Given the description of an element on the screen output the (x, y) to click on. 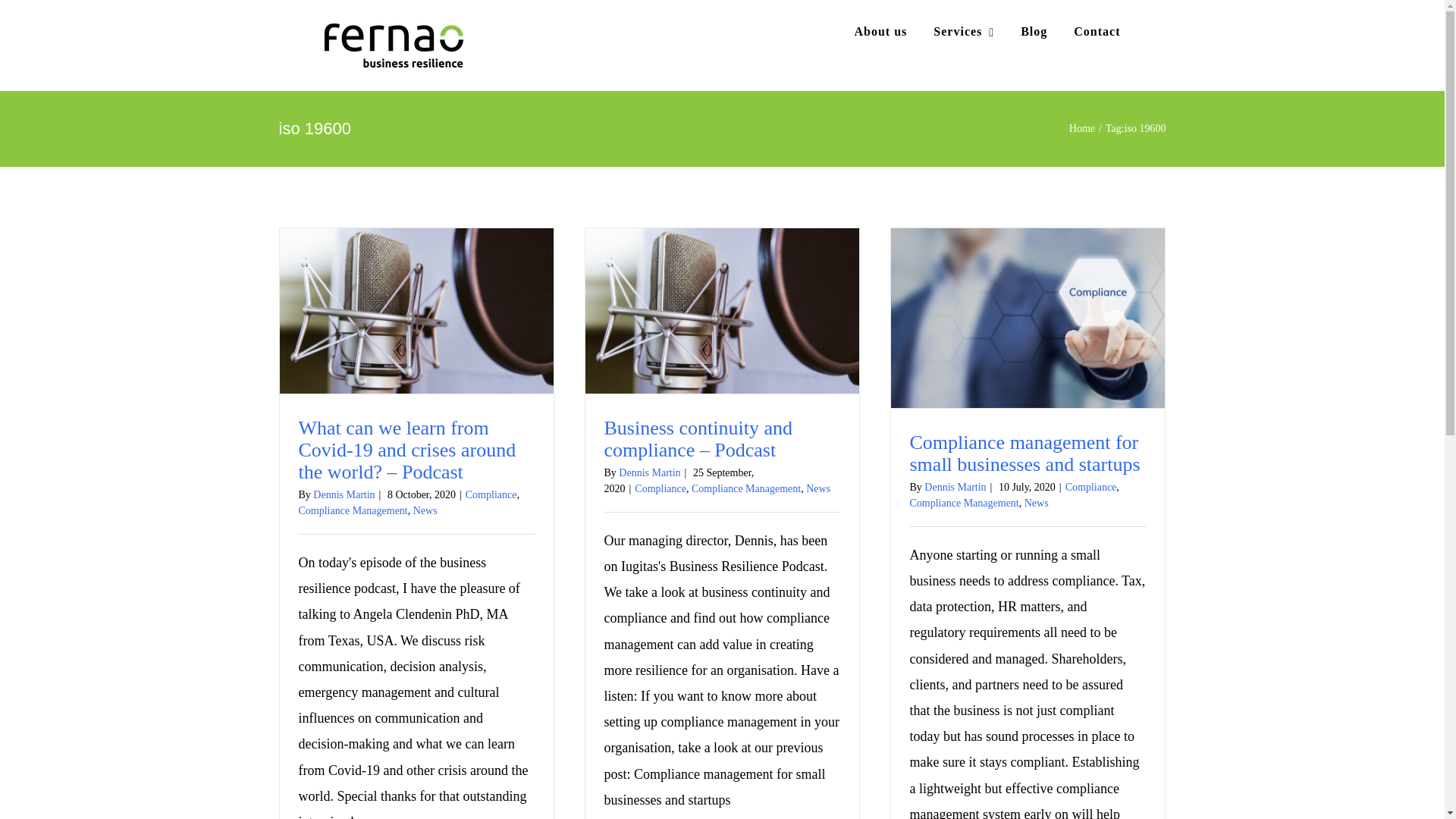
Services (963, 31)
Compliance Management (352, 510)
Dennis Martin (343, 494)
Compliance (659, 488)
Posts by Dennis Martin (648, 472)
Posts by Dennis Martin (343, 494)
Posts by Dennis Martin (954, 487)
Home (1081, 128)
Compliance (490, 494)
Dennis Martin (648, 472)
News (425, 510)
